Given the description of an element on the screen output the (x, y) to click on. 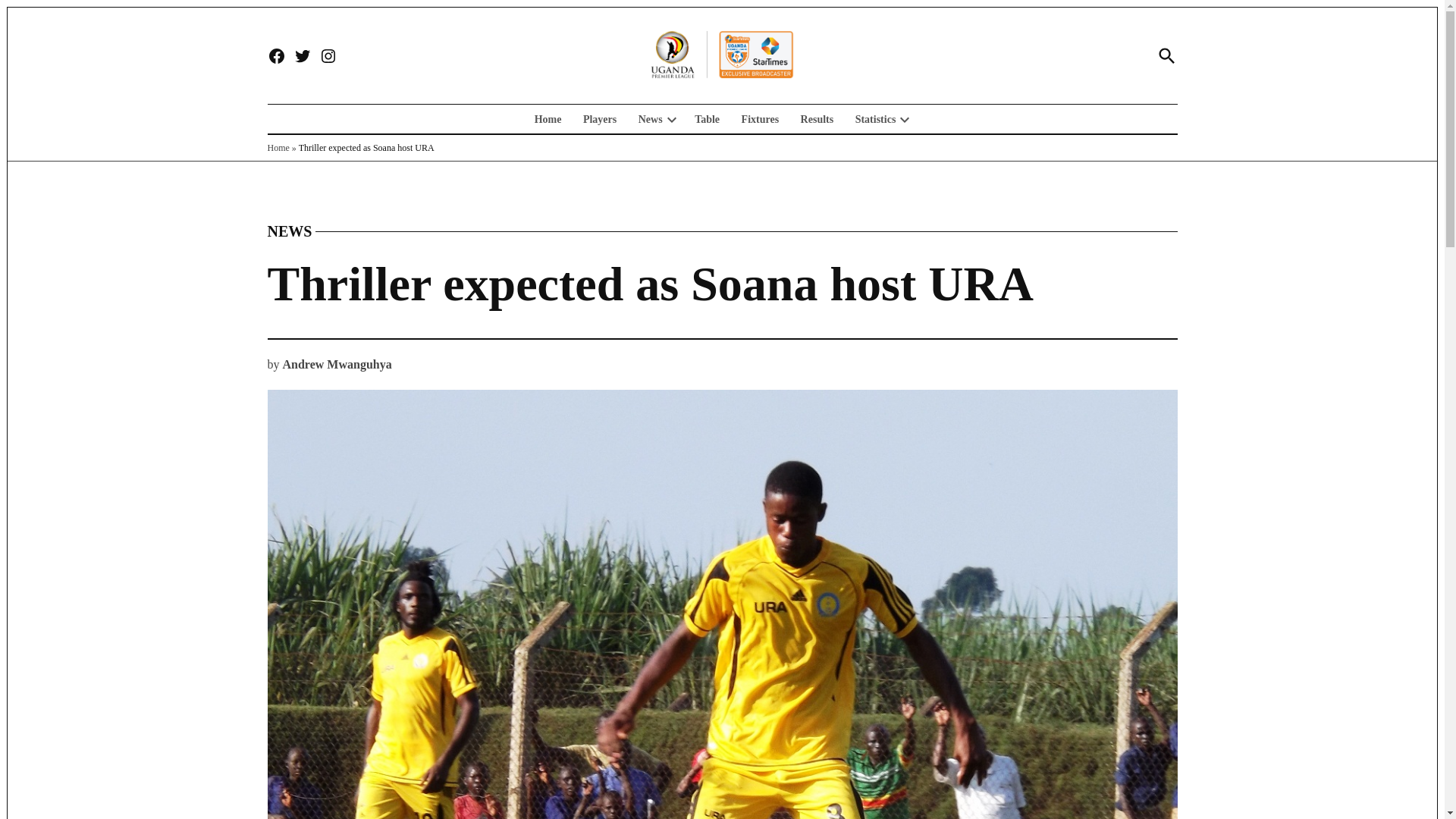
Facebook Page (275, 56)
Players (599, 118)
News (646, 118)
Twitter (301, 56)
Instagram (327, 56)
Home (551, 118)
